Given the description of an element on the screen output the (x, y) to click on. 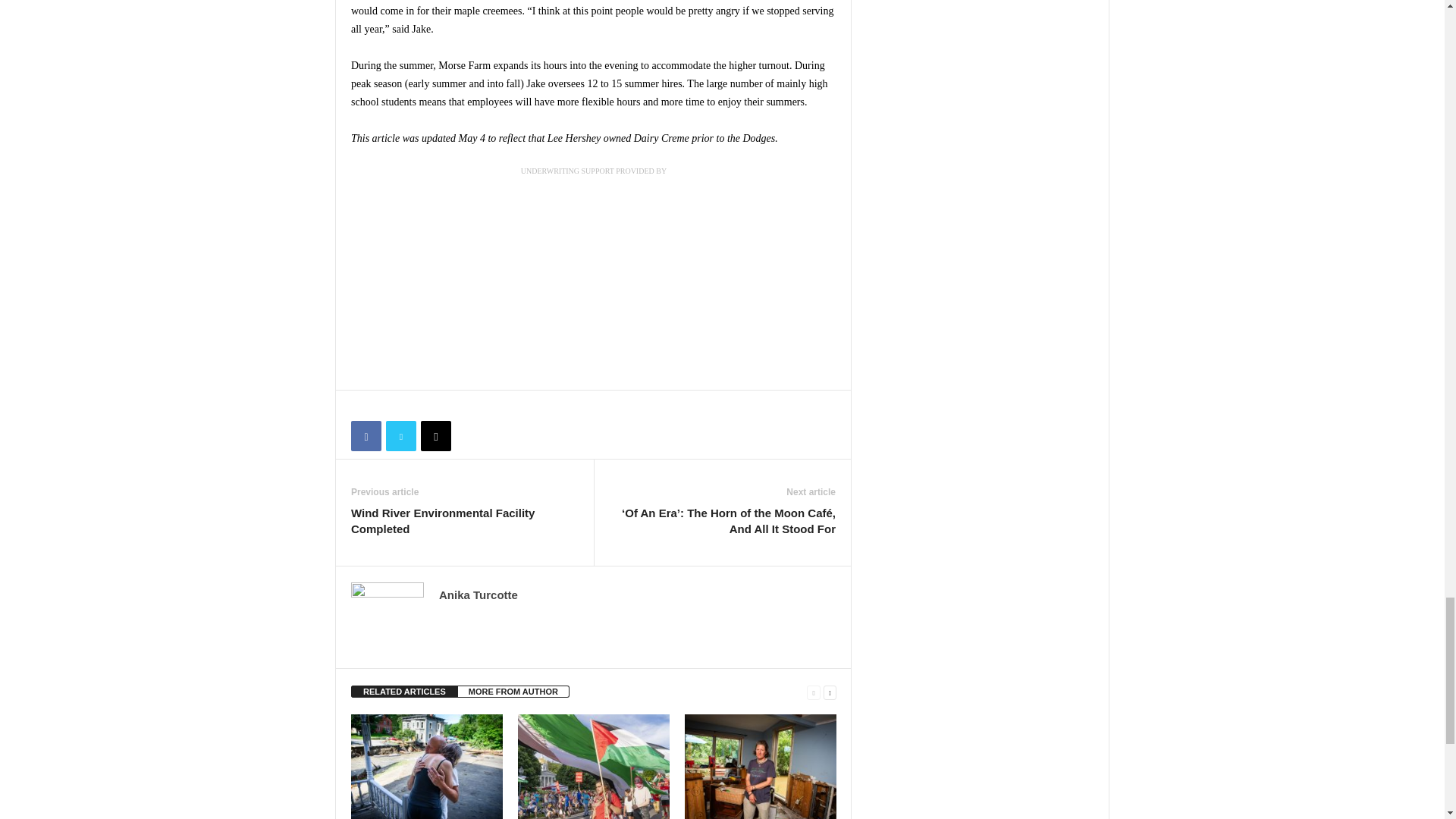
3rd party ad content (627, 278)
Independence Day Parade in Photos (593, 766)
